Given the description of an element on the screen output the (x, y) to click on. 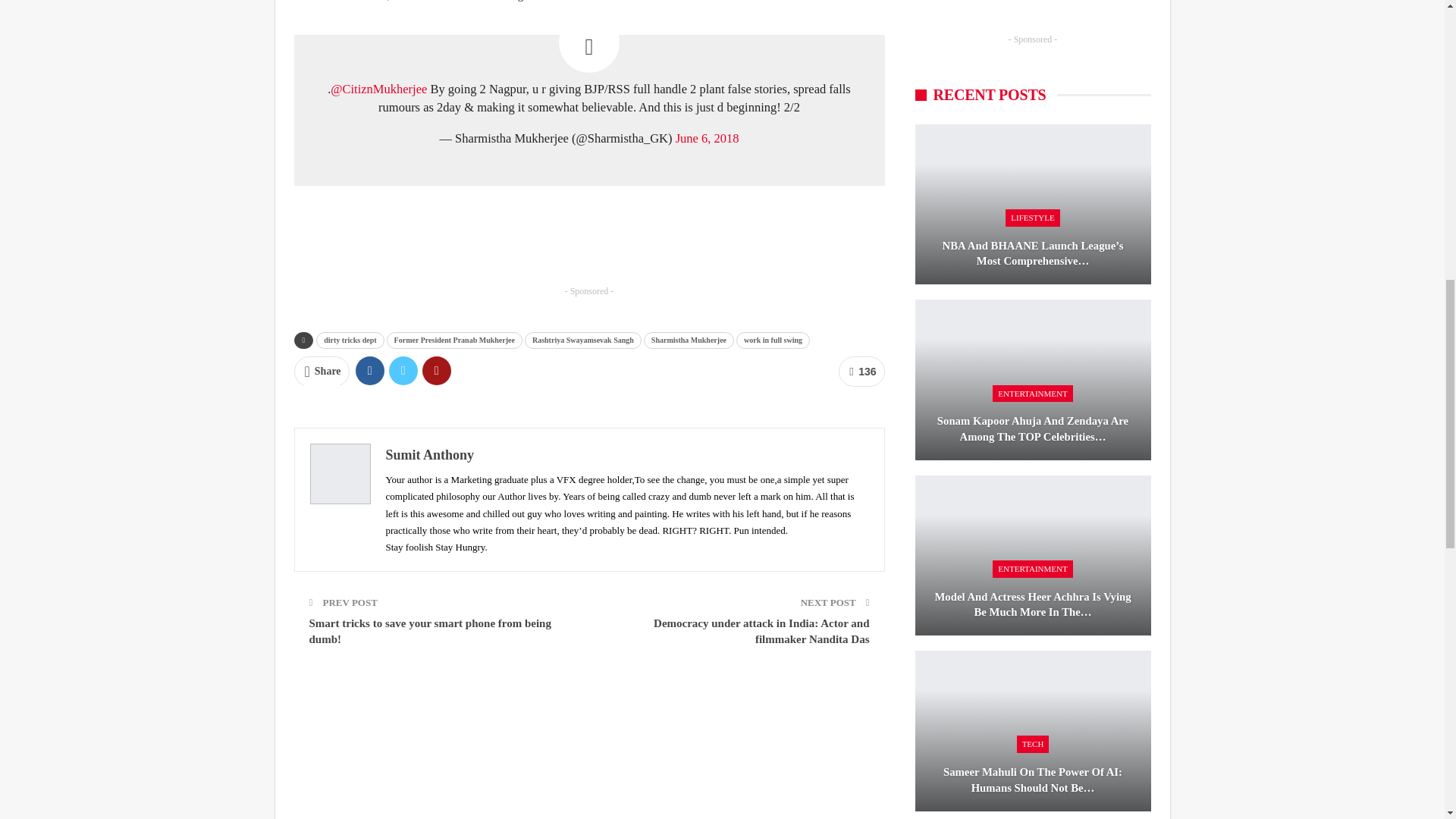
Sharmistha Mukherjee (688, 340)
Rashtriya Swayamsevak Sangh (583, 340)
Former President Pranab Mukherjee (454, 340)
dirty tricks dept (349, 340)
June 6, 2018 (707, 138)
